Given the description of an element on the screen output the (x, y) to click on. 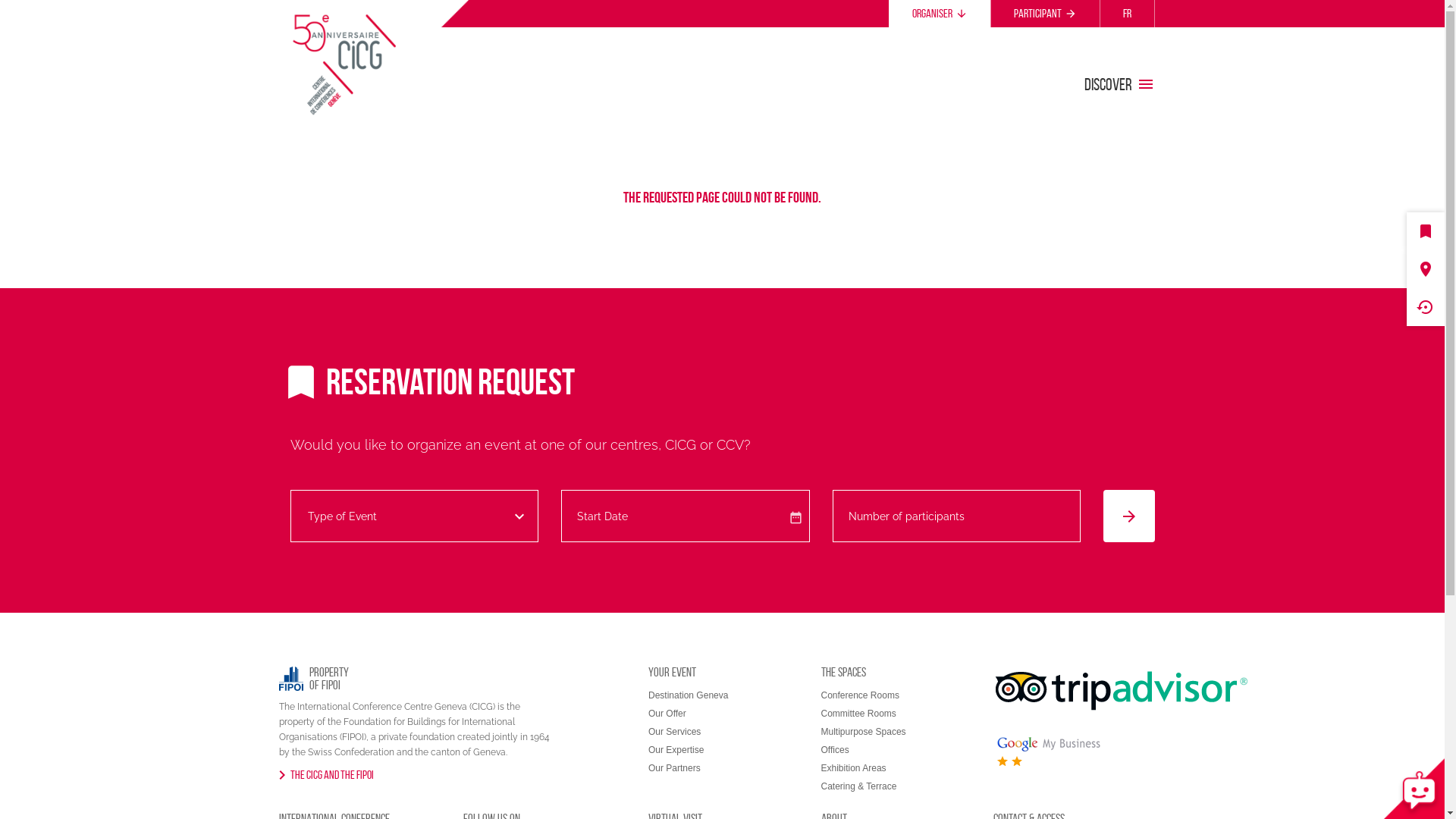
Our Offer Element type: text (667, 713)
Our Expertise Element type: text (675, 749)
Reservation Request
turned_in Element type: text (1425, 231)
THE SPACES Element type: text (842, 671)
Exhibition Areas Element type: text (852, 767)
Destination Geneva Element type: text (688, 695)
YOUR EVENT Element type: text (672, 671)
Conference Rooms Element type: text (859, 695)
Contact
place Element type: text (1425, 269)
arrow_forward Element type: text (1128, 515)
Our Services Element type: text (674, 731)
keyboard_arrow_right
The CICG and the FIPOI Element type: text (326, 774)
Organiser
arrow_downward Element type: text (939, 13)
Virtual Visit
settings_backup_restore Element type: text (1425, 307)
Multipurpose Spaces Element type: text (862, 731)
fr Element type: text (1126, 13)
Participant
arrow_forward Element type: text (1044, 13)
Committee Rooms Element type: text (857, 713)
Catering & Terrace Element type: text (858, 786)
Offices Element type: text (834, 749)
Our Partners Element type: text (674, 767)
